Given the description of an element on the screen output the (x, y) to click on. 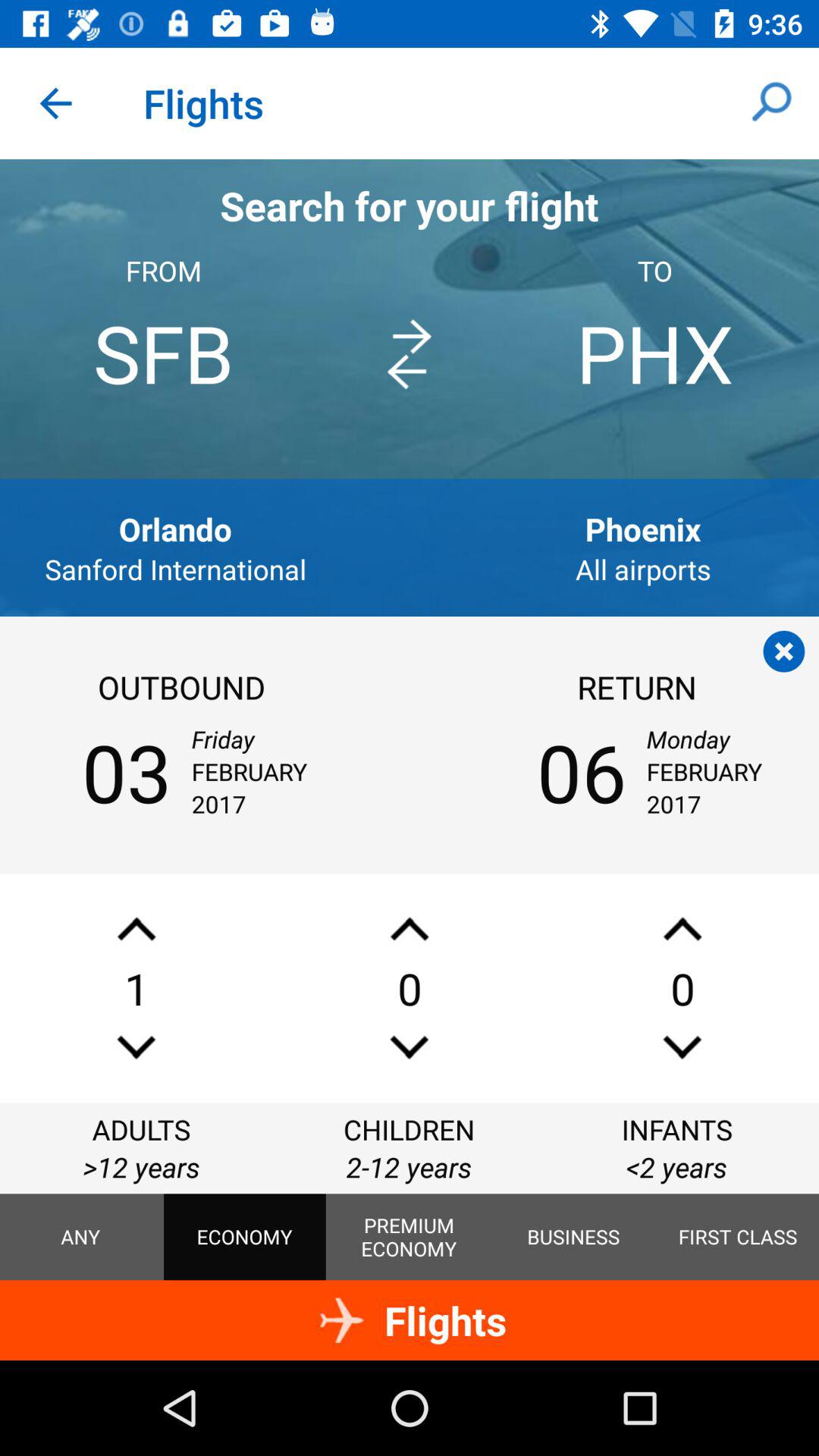
lower number (682, 1047)
